Given the description of an element on the screen output the (x, y) to click on. 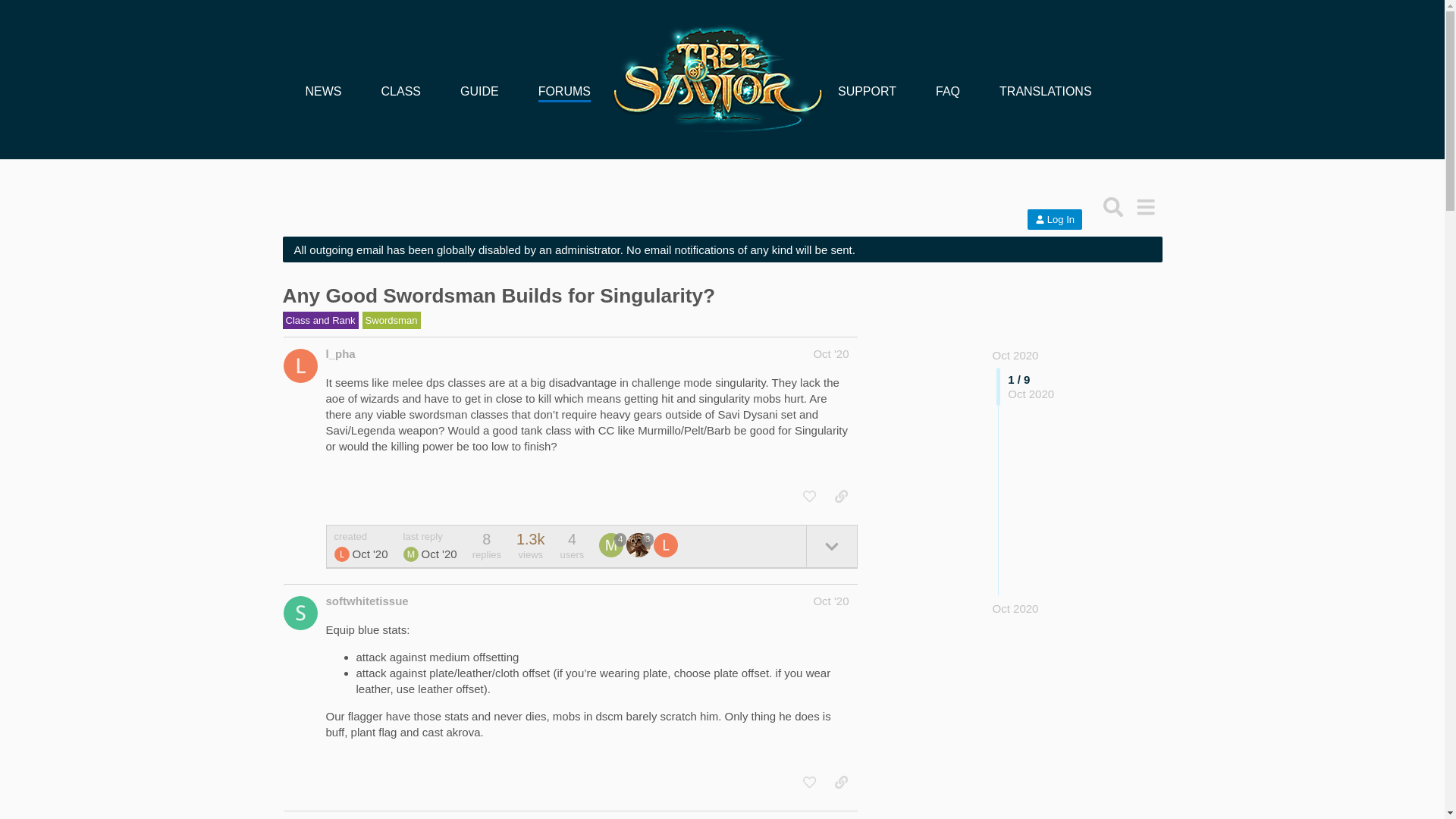
FORUMS (564, 91)
Oct 31, 2020 1:07 am (439, 553)
CLASS (400, 91)
search topics, posts, users, or categories (1113, 206)
GUIDE (479, 91)
MOKASIUS (411, 554)
Log In (1054, 219)
Oct 2020 (1015, 608)
Class and Rank (320, 320)
Discuss topics related to Swordsman Class and Rank here. (391, 319)
